Given the description of an element on the screen output the (x, y) to click on. 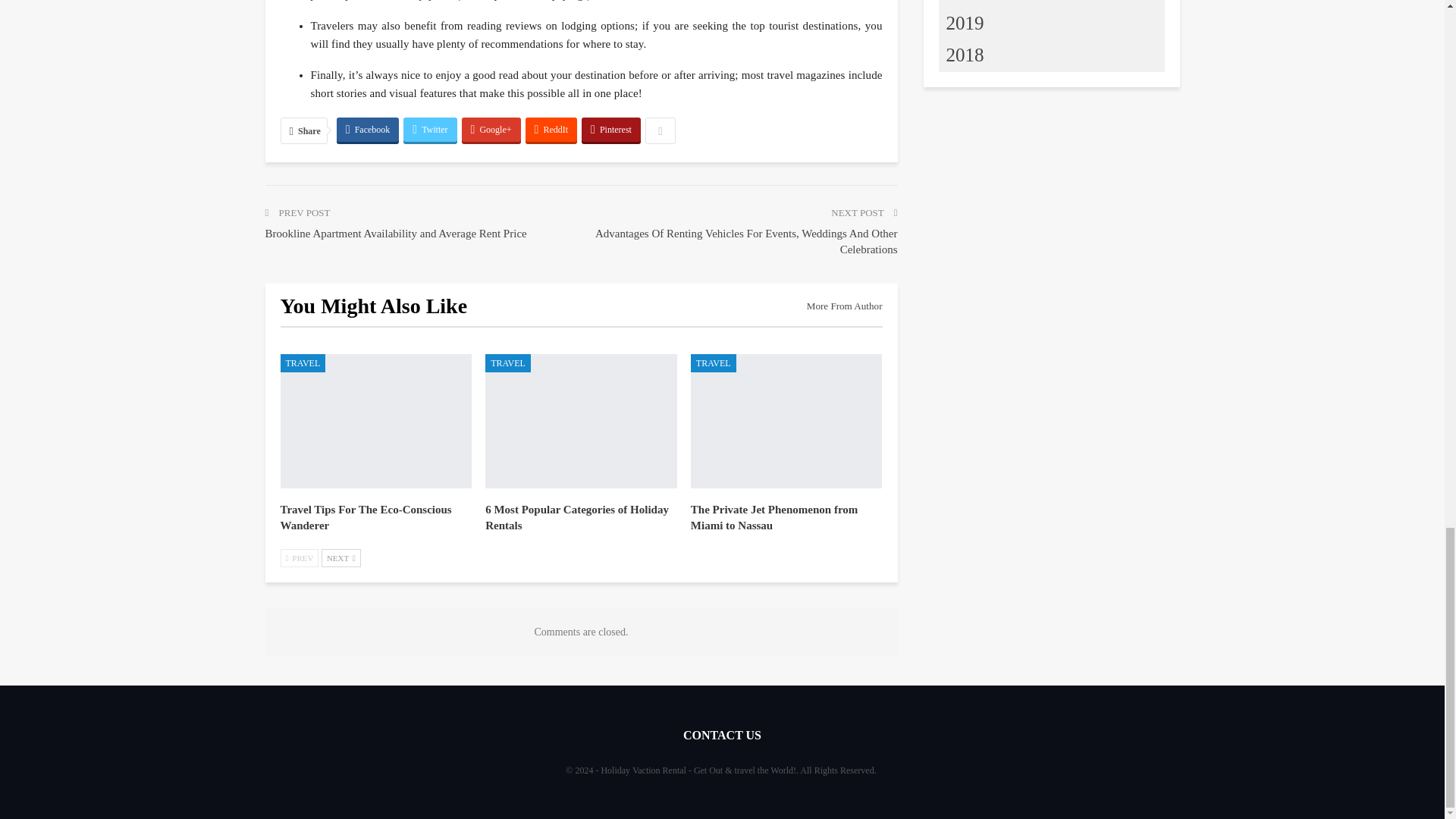
6 Most Popular Categories of Holiday Rentals (580, 420)
6 Most Popular Categories of Holiday Rentals (576, 517)
Travel Tips For The Eco-Conscious Wanderer (366, 517)
Previous (299, 557)
The Private Jet Phenomenon from Miami to Nassau (786, 420)
Facebook (367, 129)
The Private Jet Phenomenon from Miami to Nassau (774, 517)
Travel Tips For The Eco-Conscious Wanderer (376, 420)
Twitter (430, 129)
Next (341, 557)
